Given the description of an element on the screen output the (x, y) to click on. 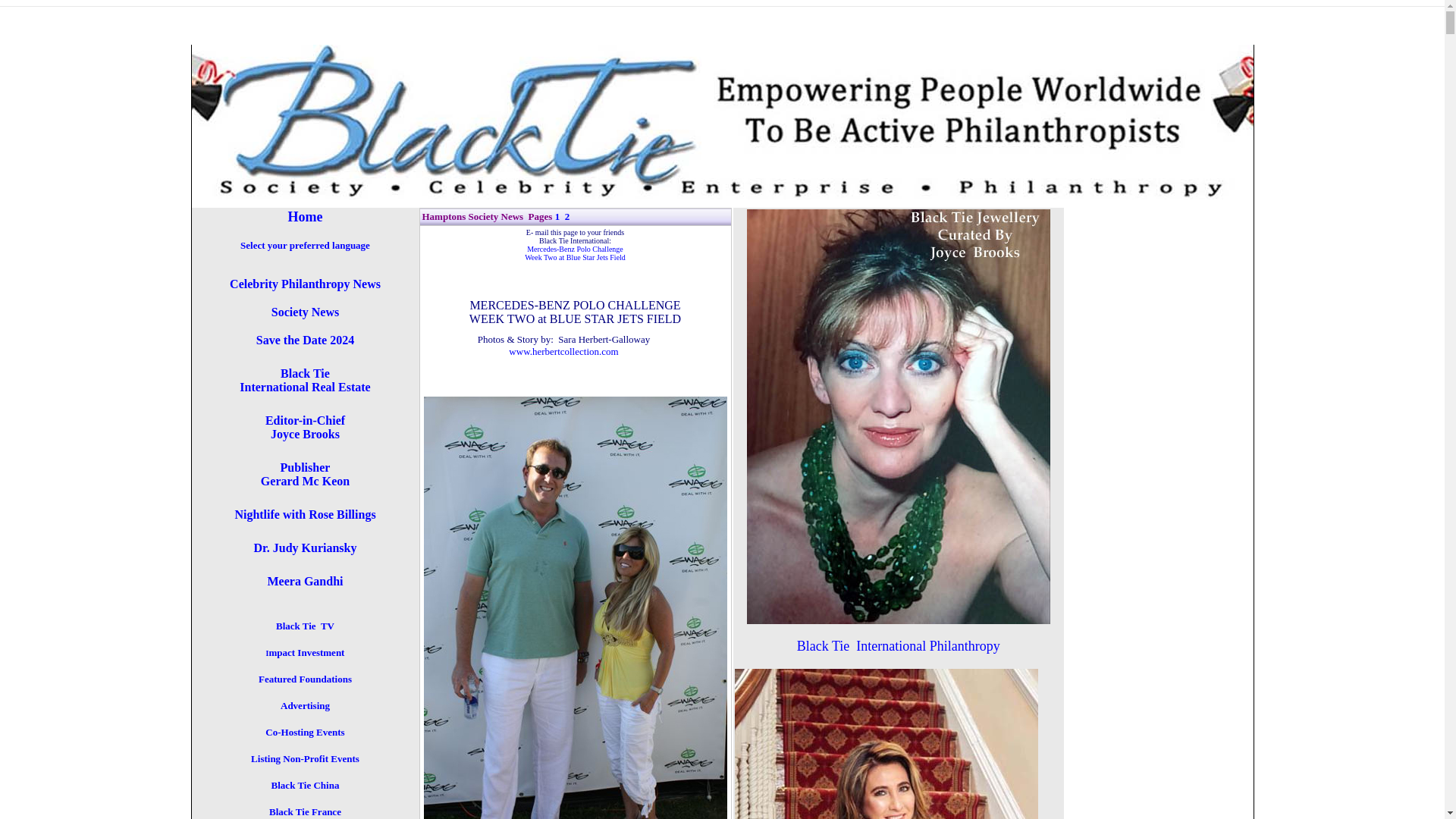
Listing Non-Profit Events (304, 758)
Featured Foundations (305, 679)
Co-Hosting Events (304, 474)
Dr. Judy Kuriansky (303, 732)
Advertising (304, 547)
Celebrity Philanthropy News (304, 427)
Home (305, 705)
Black Tie China (305, 283)
Society News (305, 218)
mpact Investment (304, 785)
Black Tie  TV (304, 311)
Nightlife with Rose Billings (304, 379)
